Given the description of an element on the screen output the (x, y) to click on. 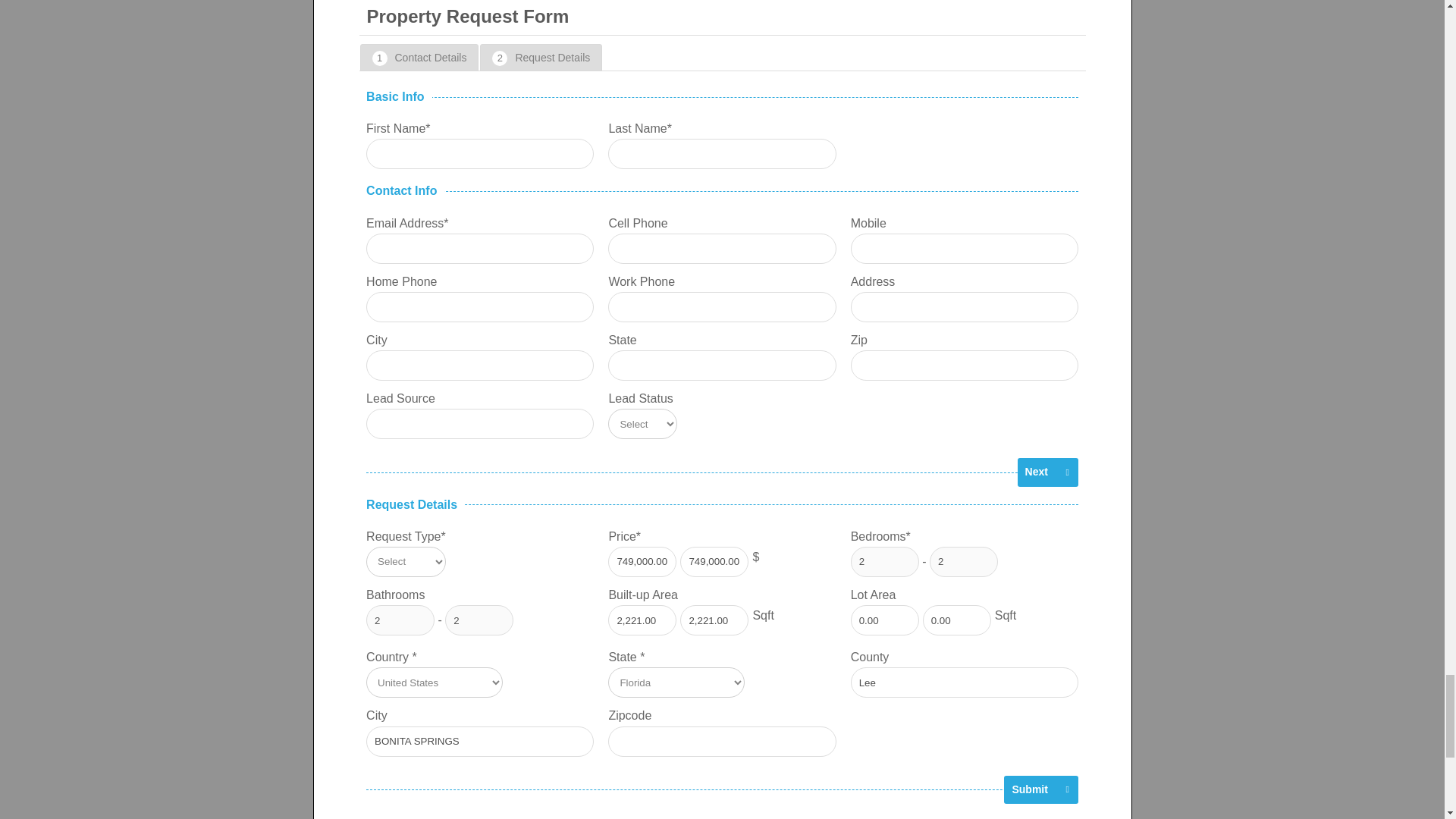
749,000.00 (642, 562)
2 (884, 562)
749,000.00 (713, 562)
2 (963, 562)
